Given the description of an element on the screen output the (x, y) to click on. 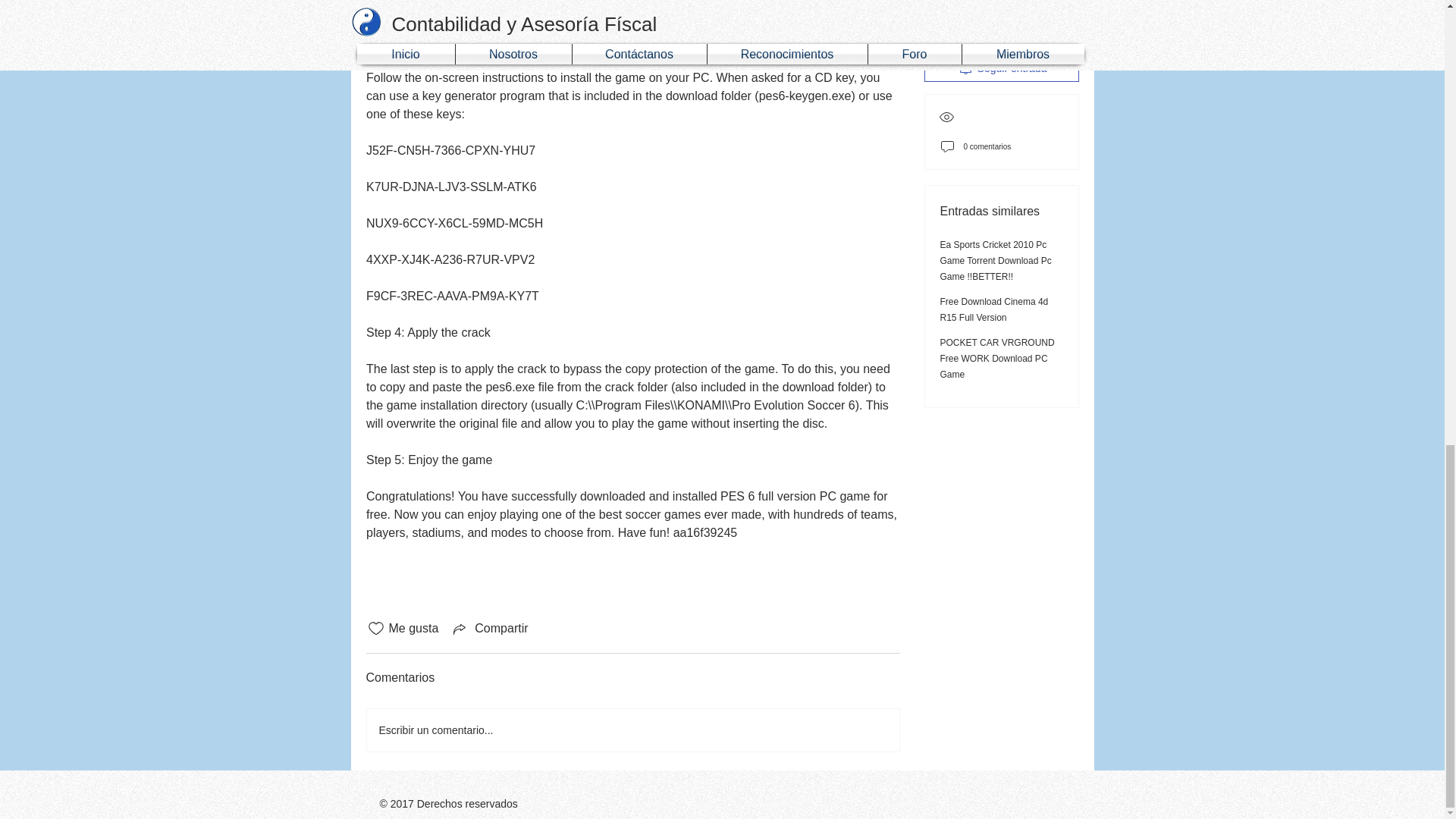
Compartir (488, 628)
Escribir un comentario... (632, 730)
